Given the description of an element on the screen output the (x, y) to click on. 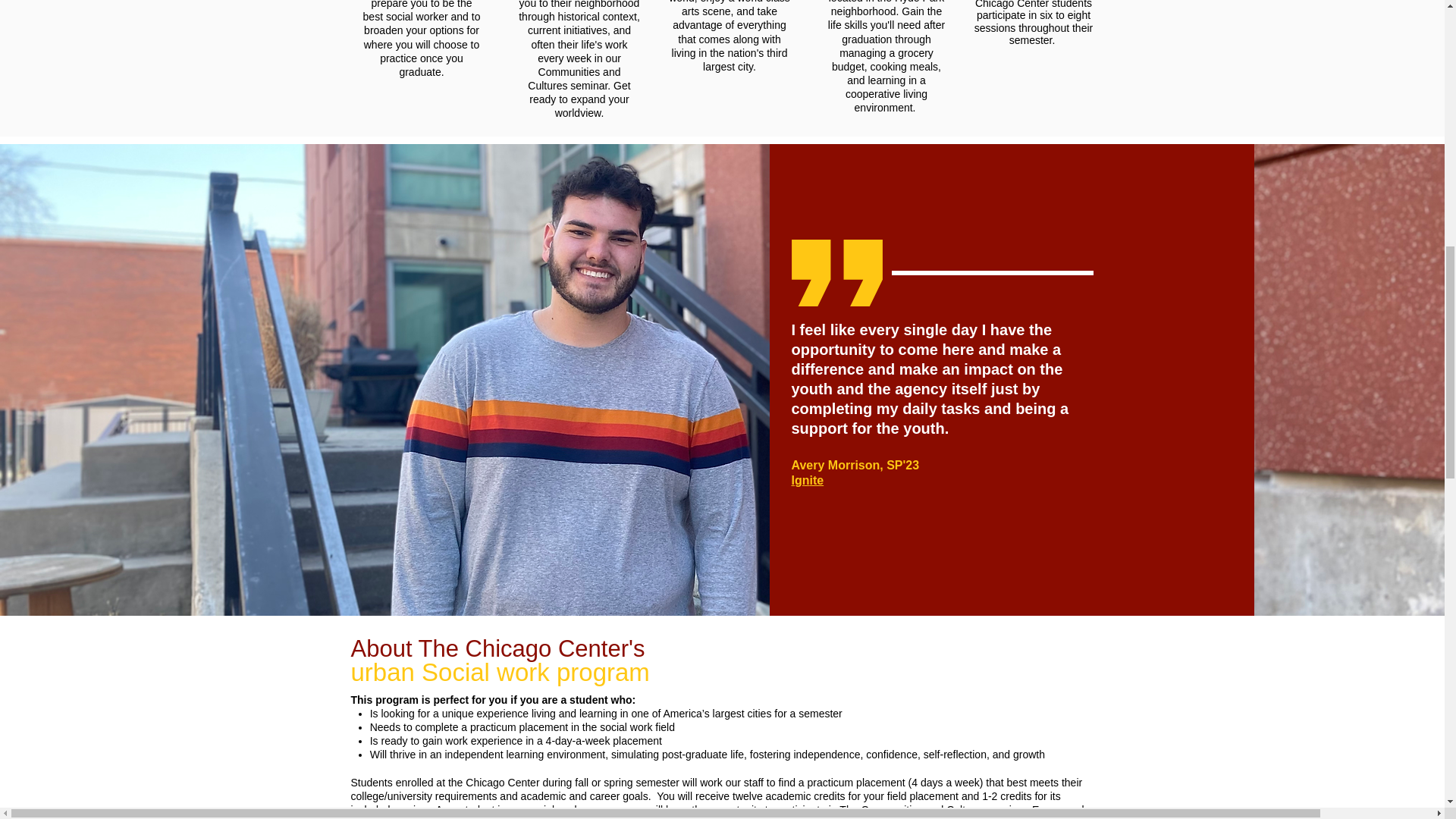
Ignite (808, 480)
